Given the description of an element on the screen output the (x, y) to click on. 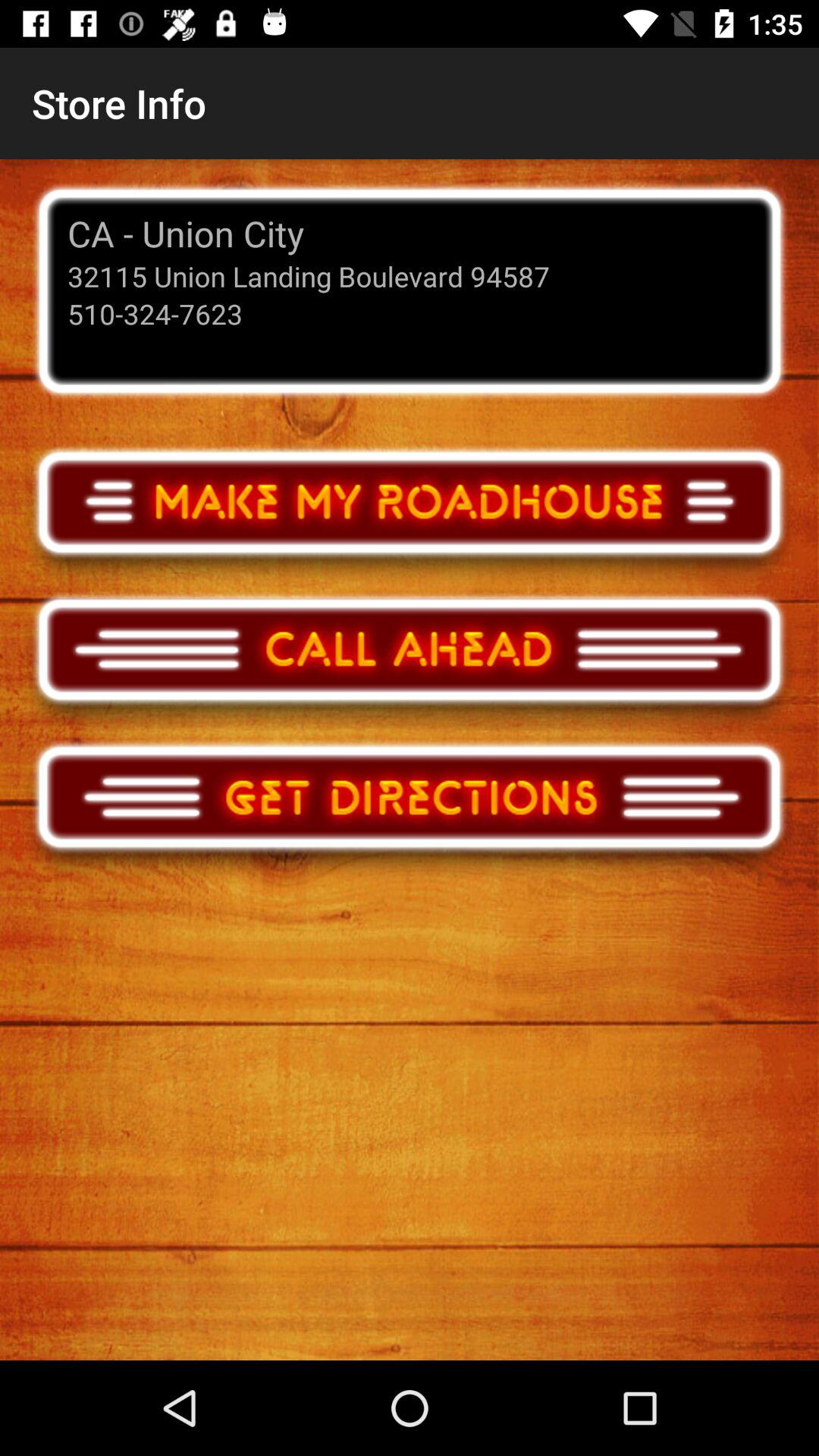
make my roadhouse (409, 516)
